Given the description of an element on the screen output the (x, y) to click on. 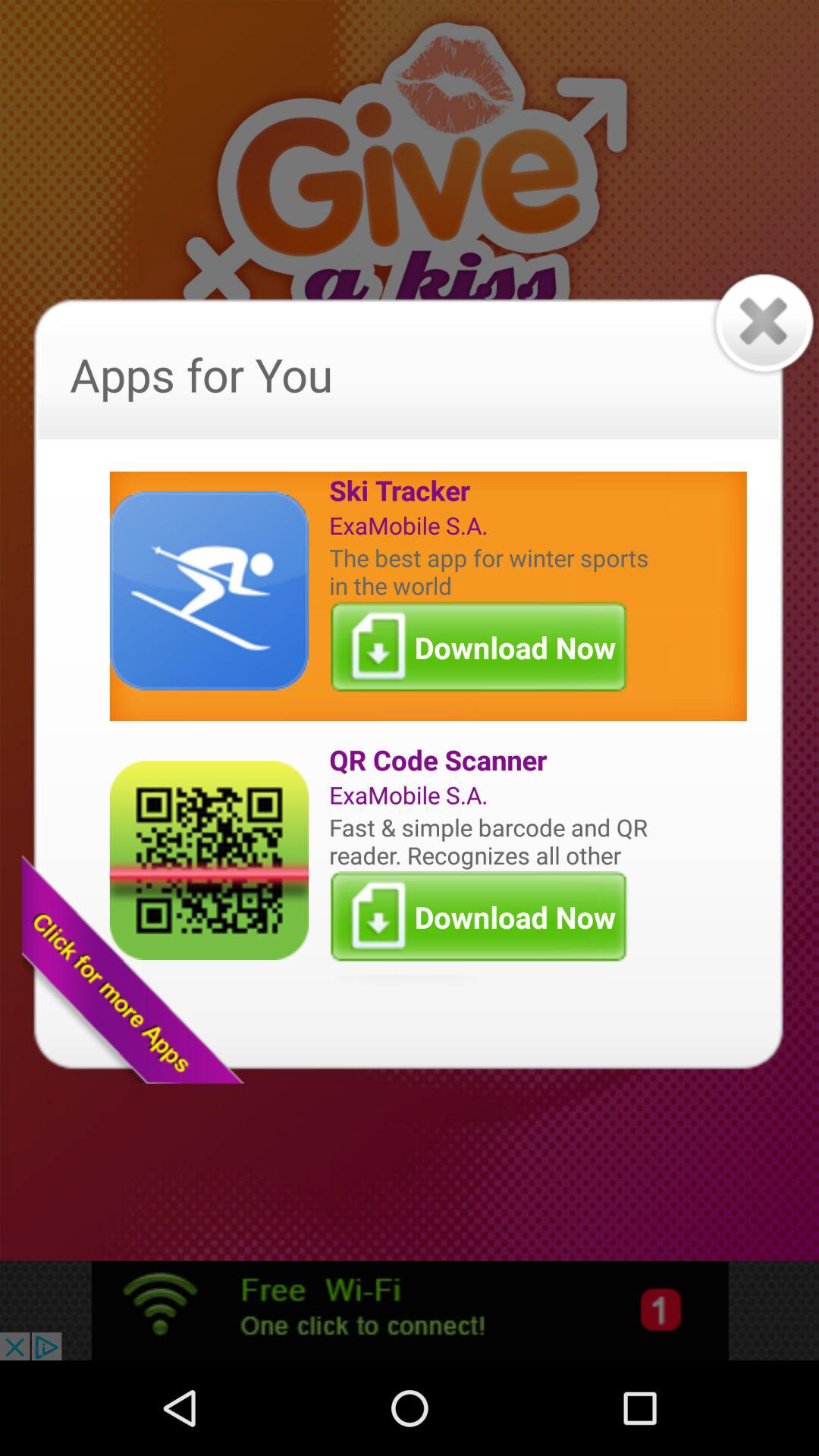
turn on the item below apps for you item (492, 490)
